Given the description of an element on the screen output the (x, y) to click on. 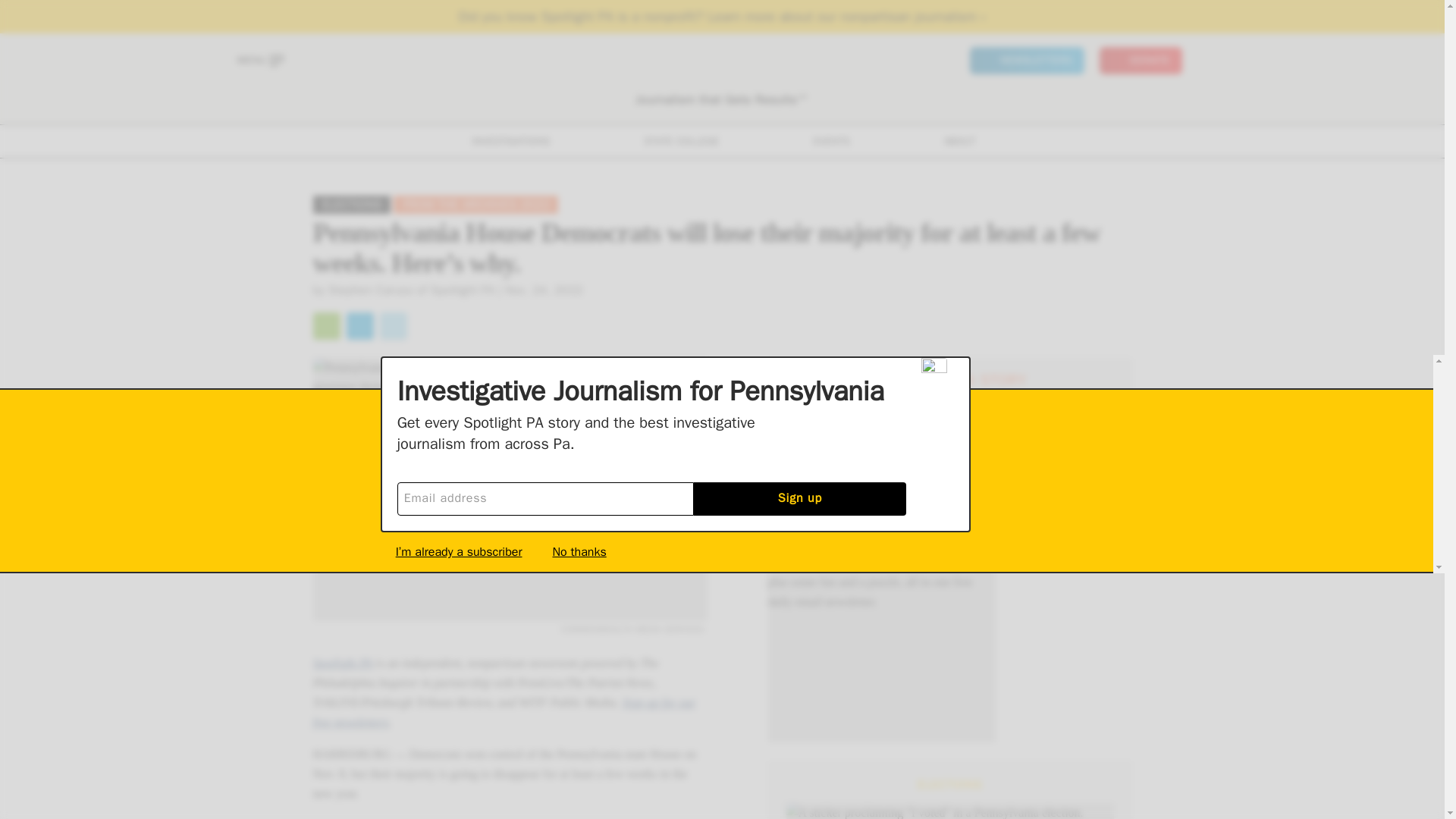
Tweet about this page (392, 325)
MENU (259, 60)
Share this page on Facebook (359, 325)
A sticker proclaiming "I voted" in a Pennsylvania election. (949, 811)
Share this page by email (326, 325)
